Given the description of an element on the screen output the (x, y) to click on. 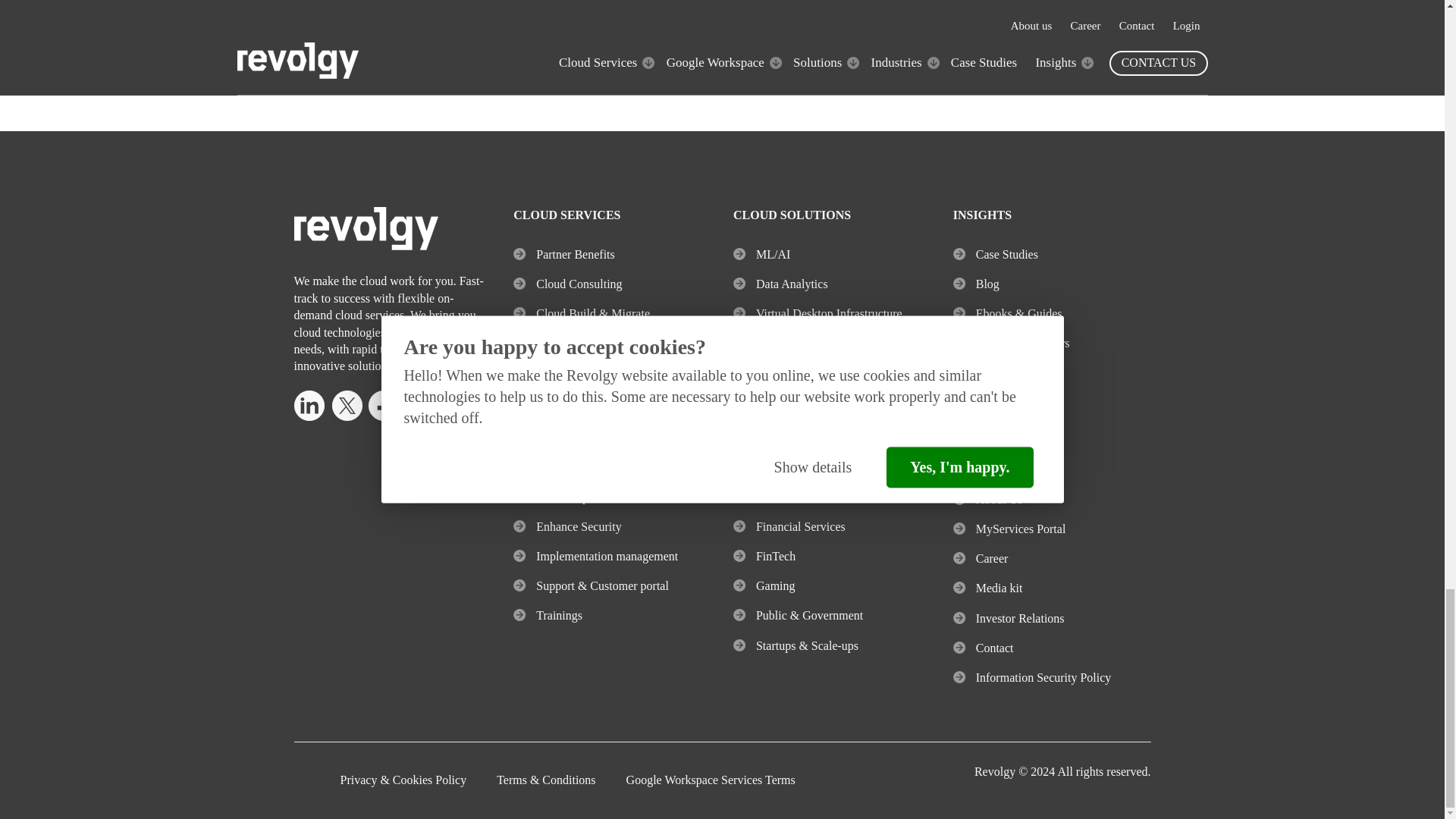
Subscribe (962, 24)
